Given the description of an element on the screen output the (x, y) to click on. 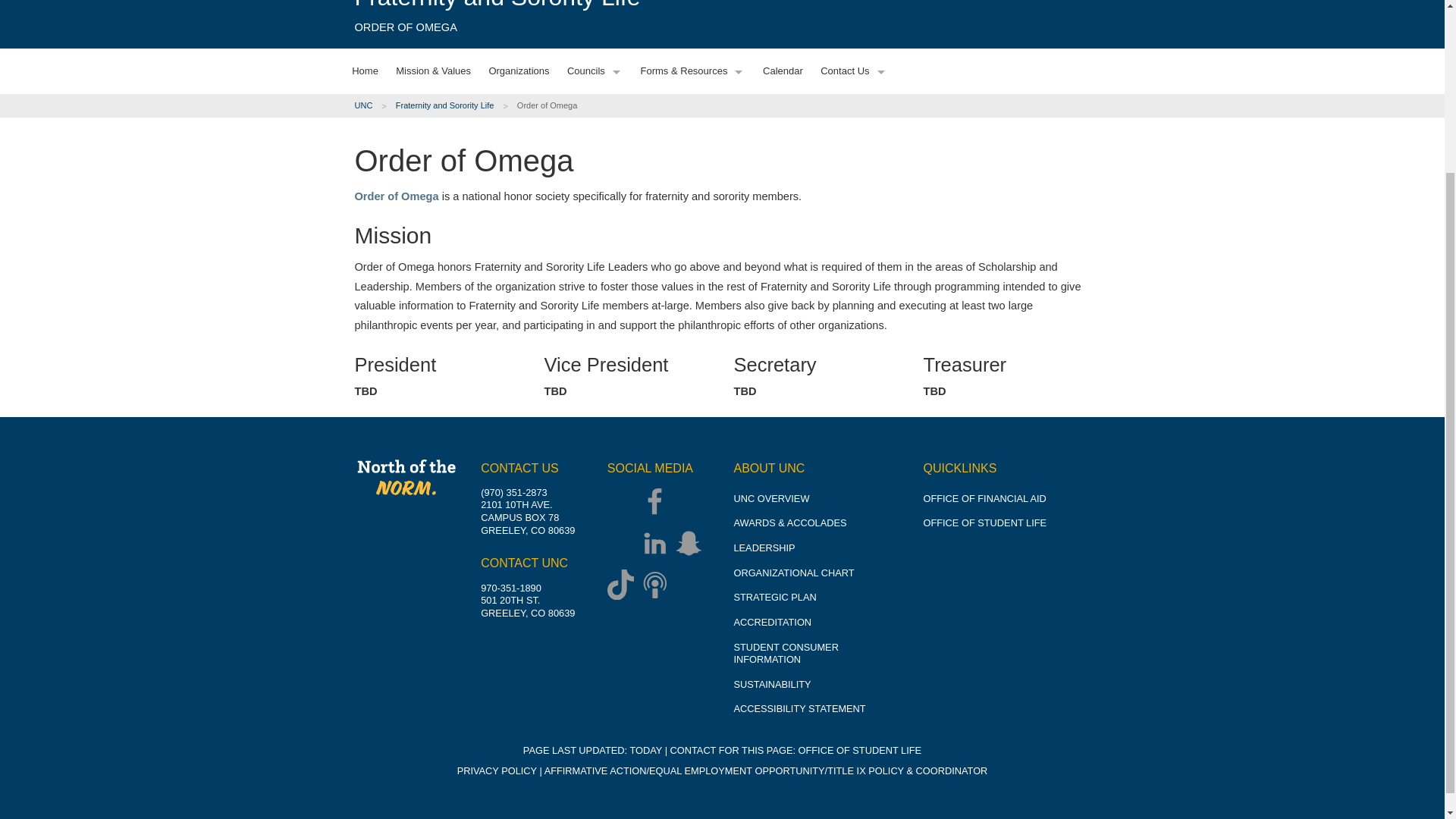
Research (509, 205)
Graduate Programs (509, 46)
Orientation (418, 295)
Schedule of Classes (509, 152)
Undergraduate Programs (509, 19)
Departments and Colleges (509, 72)
TikTok (624, 586)
Virtual Tour (418, 269)
Search (1067, 156)
Bookstore (509, 179)
Costs (418, 168)
First-Year (418, 14)
International (418, 94)
Catalog (509, 126)
Transfer (418, 40)
